Given the description of an element on the screen output the (x, y) to click on. 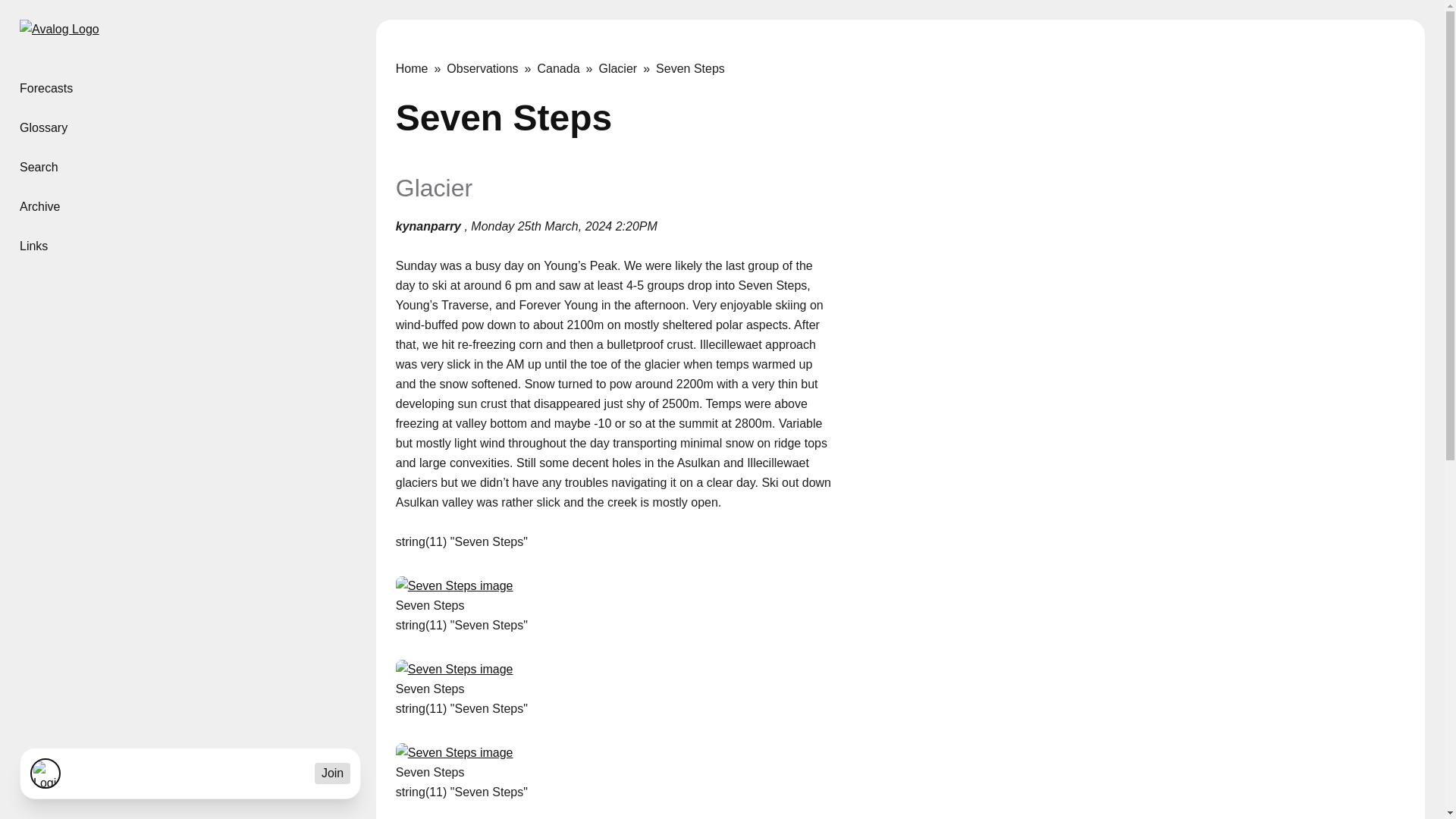
Regions (188, 88)
Join (332, 772)
Search (188, 167)
Observations (491, 68)
Home (421, 68)
Glossary (188, 127)
Home (59, 34)
Archive (188, 207)
Canada (567, 68)
Glossary (188, 127)
